Given the description of an element on the screen output the (x, y) to click on. 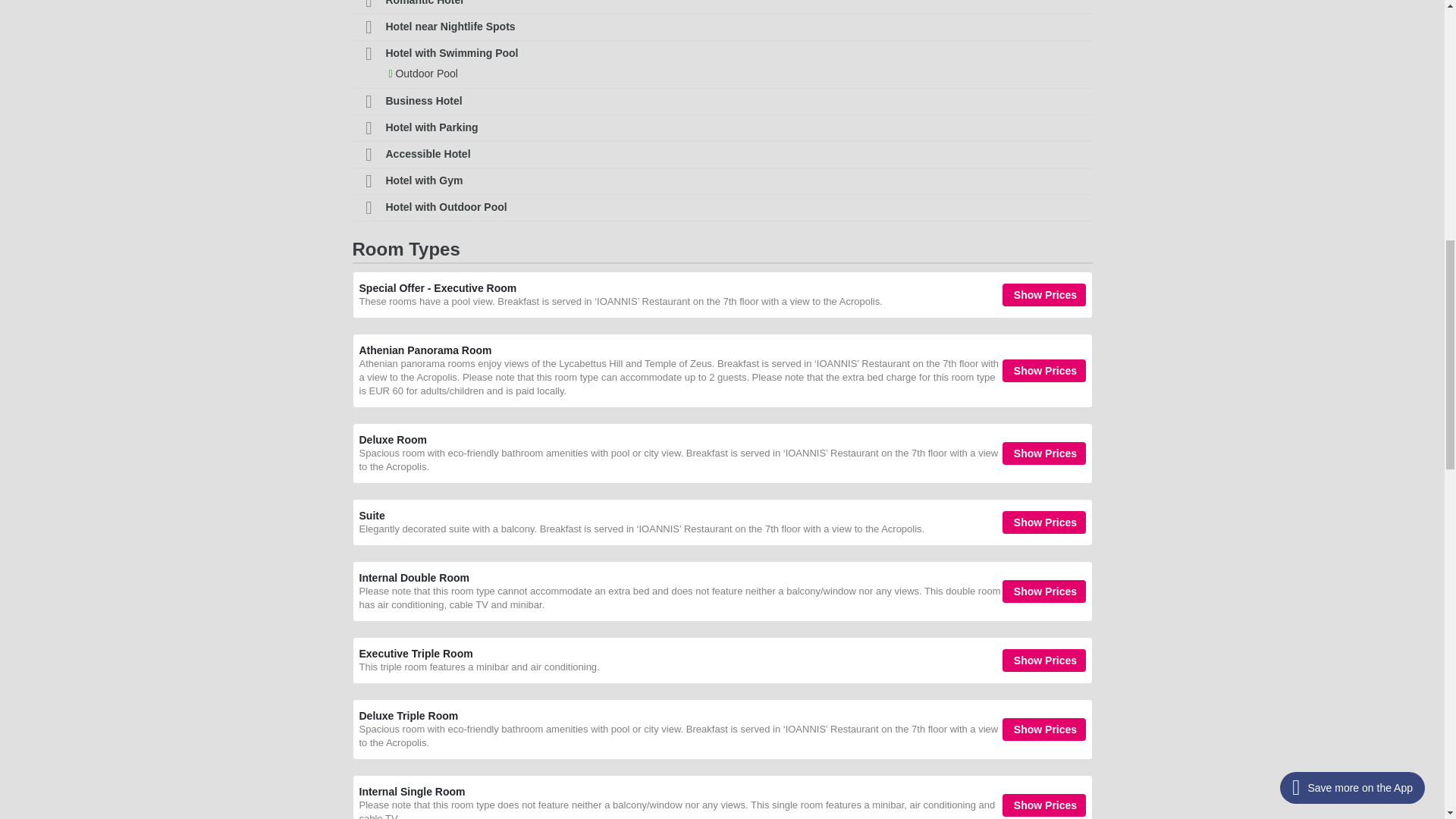
Show Prices (1044, 453)
Show Prices (1044, 522)
Show Prices (1044, 294)
Show Prices (1044, 370)
Show Prices (1044, 729)
Show Prices (1044, 590)
Show Prices (1044, 660)
Show Prices (1044, 804)
